Given the description of an element on the screen output the (x, y) to click on. 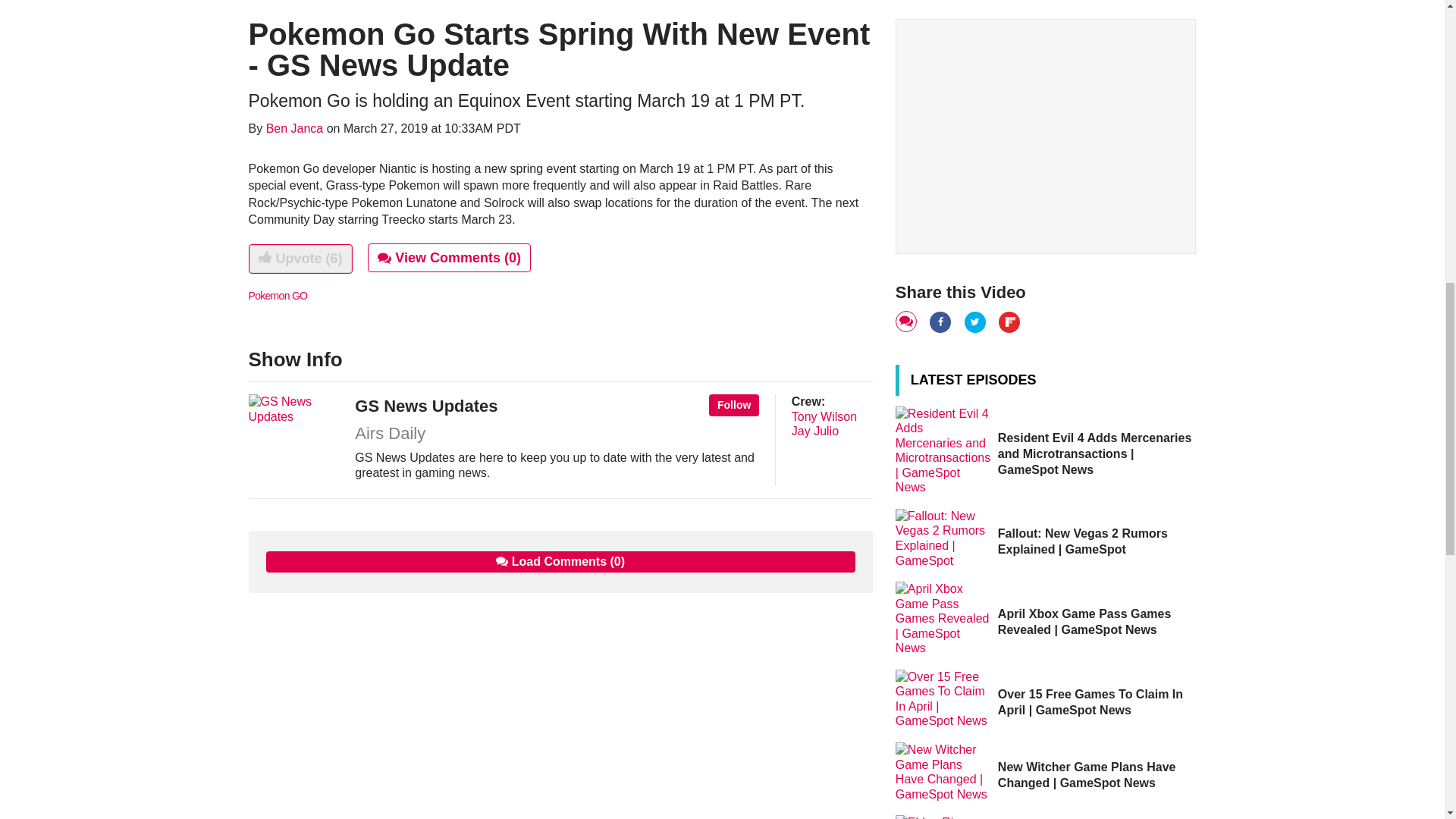
Comment (906, 322)
Facebook (941, 321)
Twitter (975, 321)
